Given the description of an element on the screen output the (x, y) to click on. 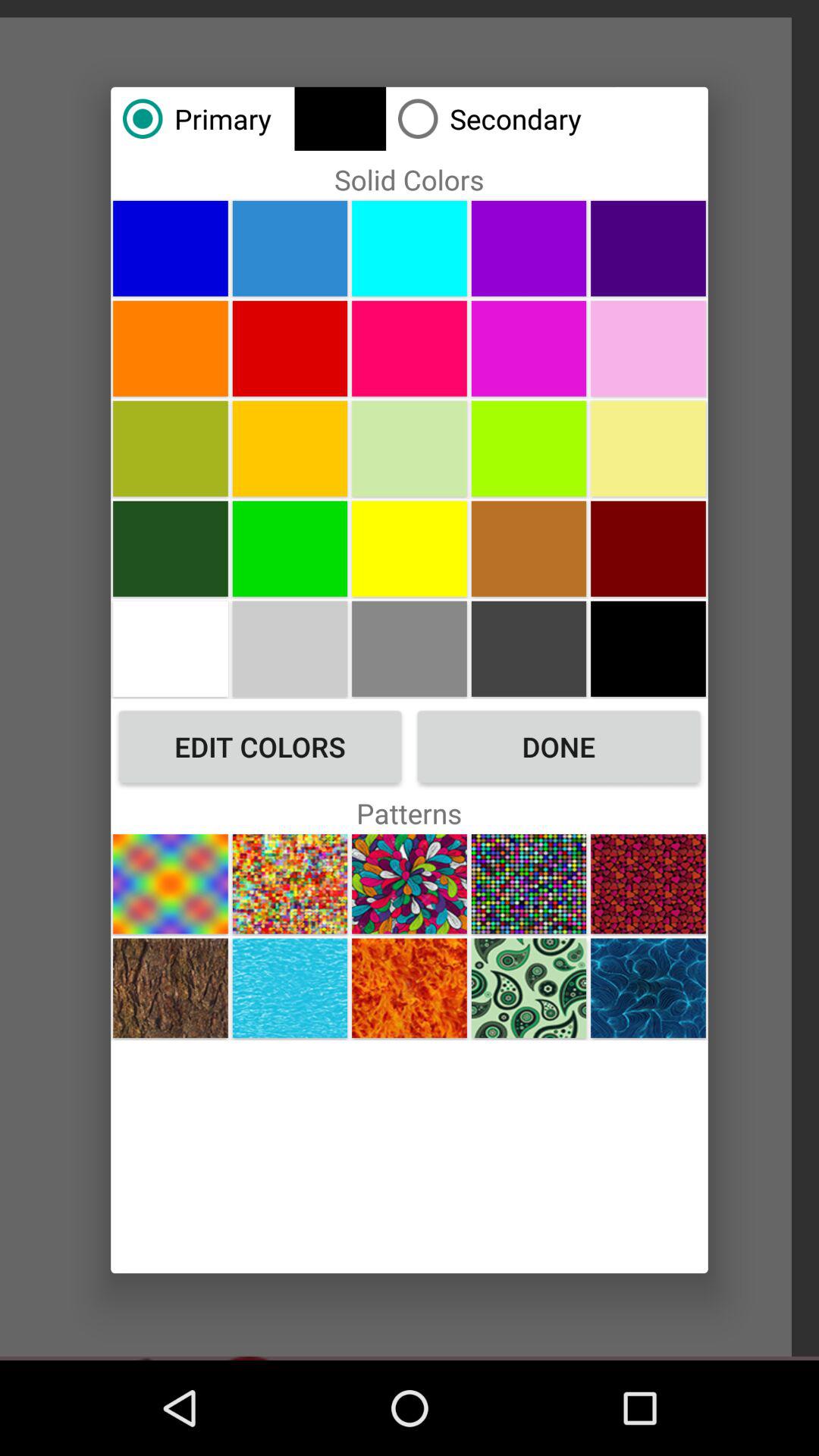
select pattern (409, 883)
